Given the description of an element on the screen output the (x, y) to click on. 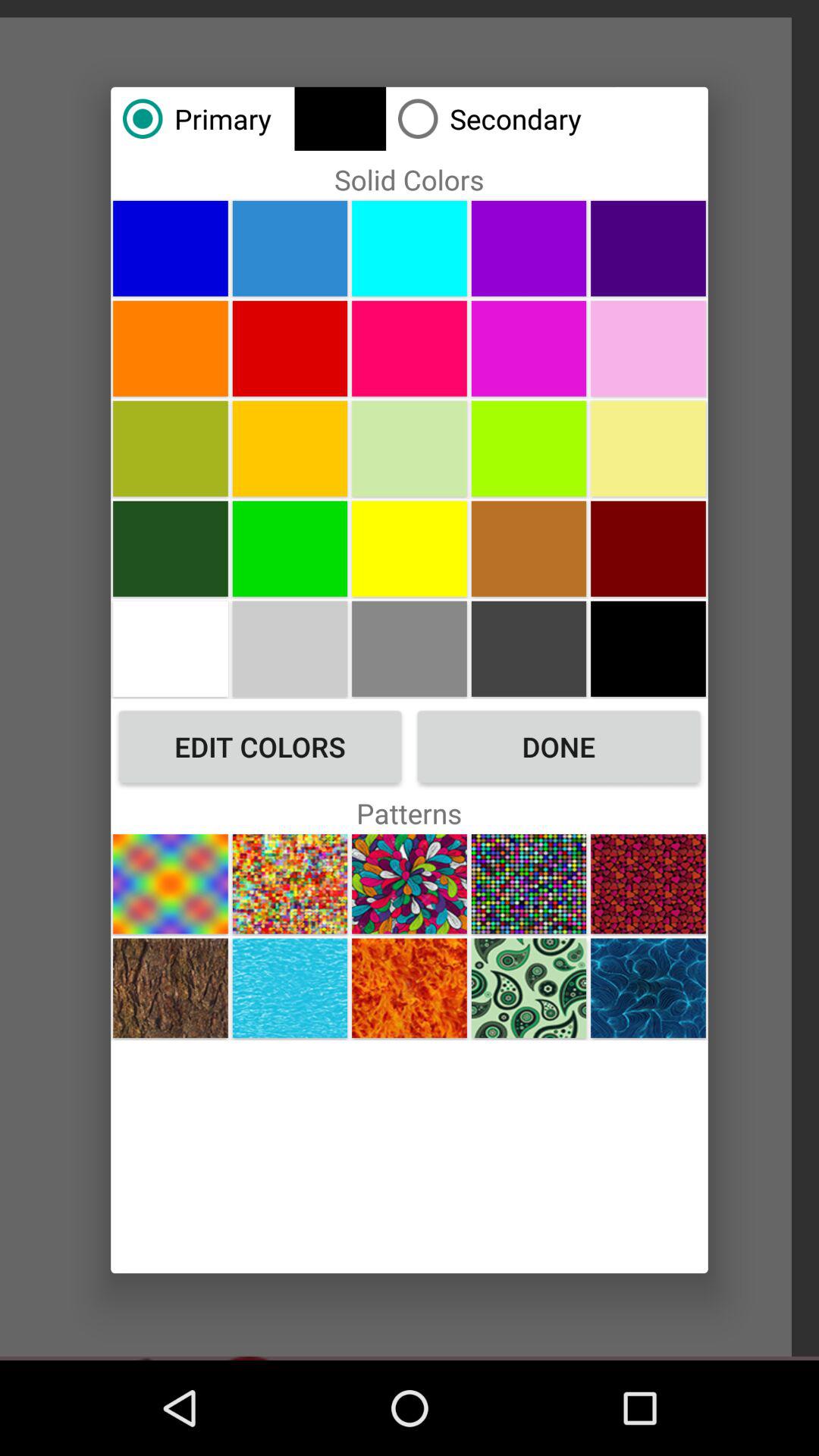
select pattern (409, 883)
